Given the description of an element on the screen output the (x, y) to click on. 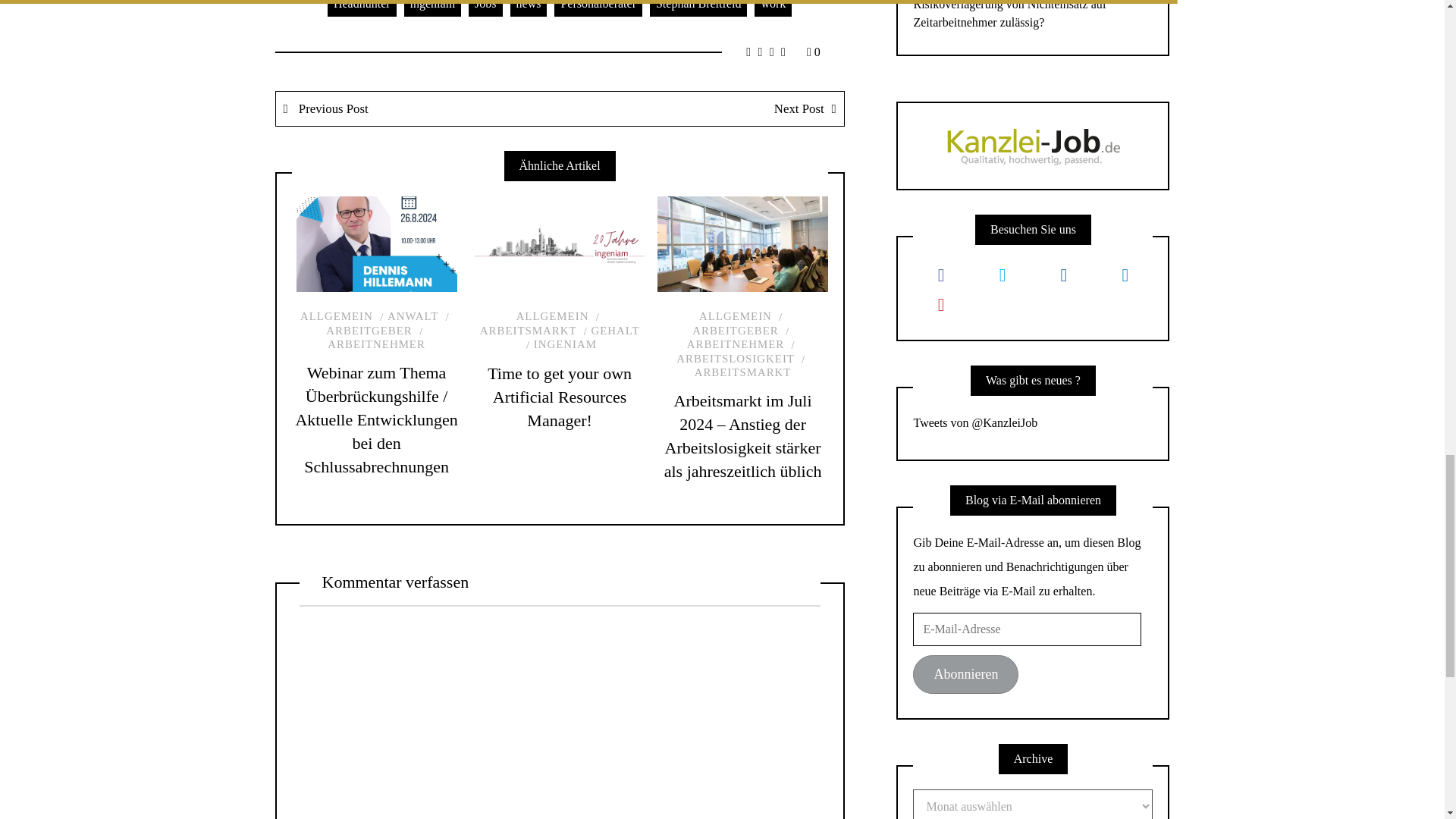
Time to get your own Artificial Resources Manager! (559, 396)
Kommentarformular (558, 712)
